Given the description of an element on the screen output the (x, y) to click on. 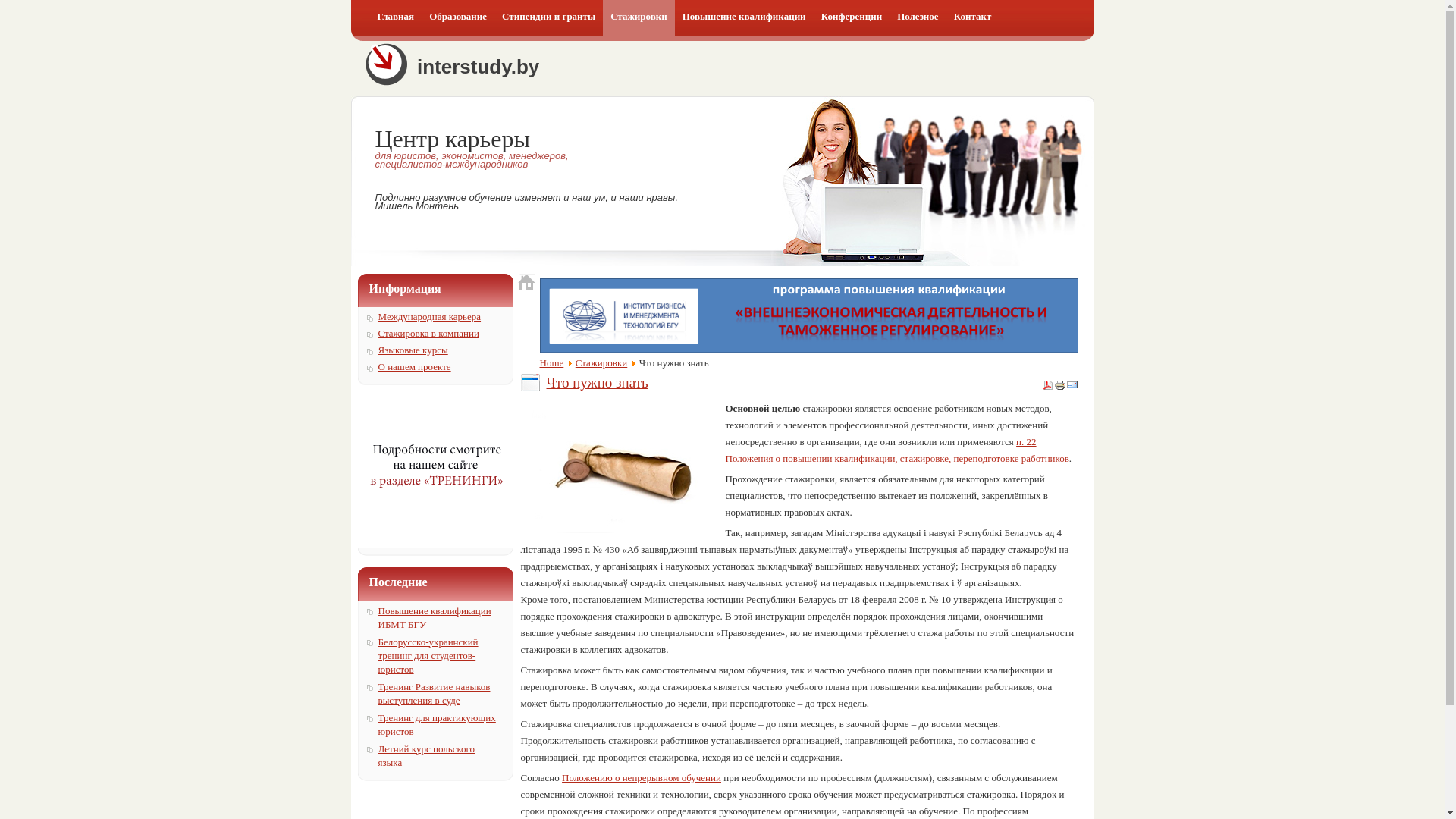
E-mail Element type: hover (1072, 387)
PDF Element type: hover (1047, 387)
Home Element type: text (551, 362)
interstudy.by Element type: text (644, 64)
